Given the description of an element on the screen output the (x, y) to click on. 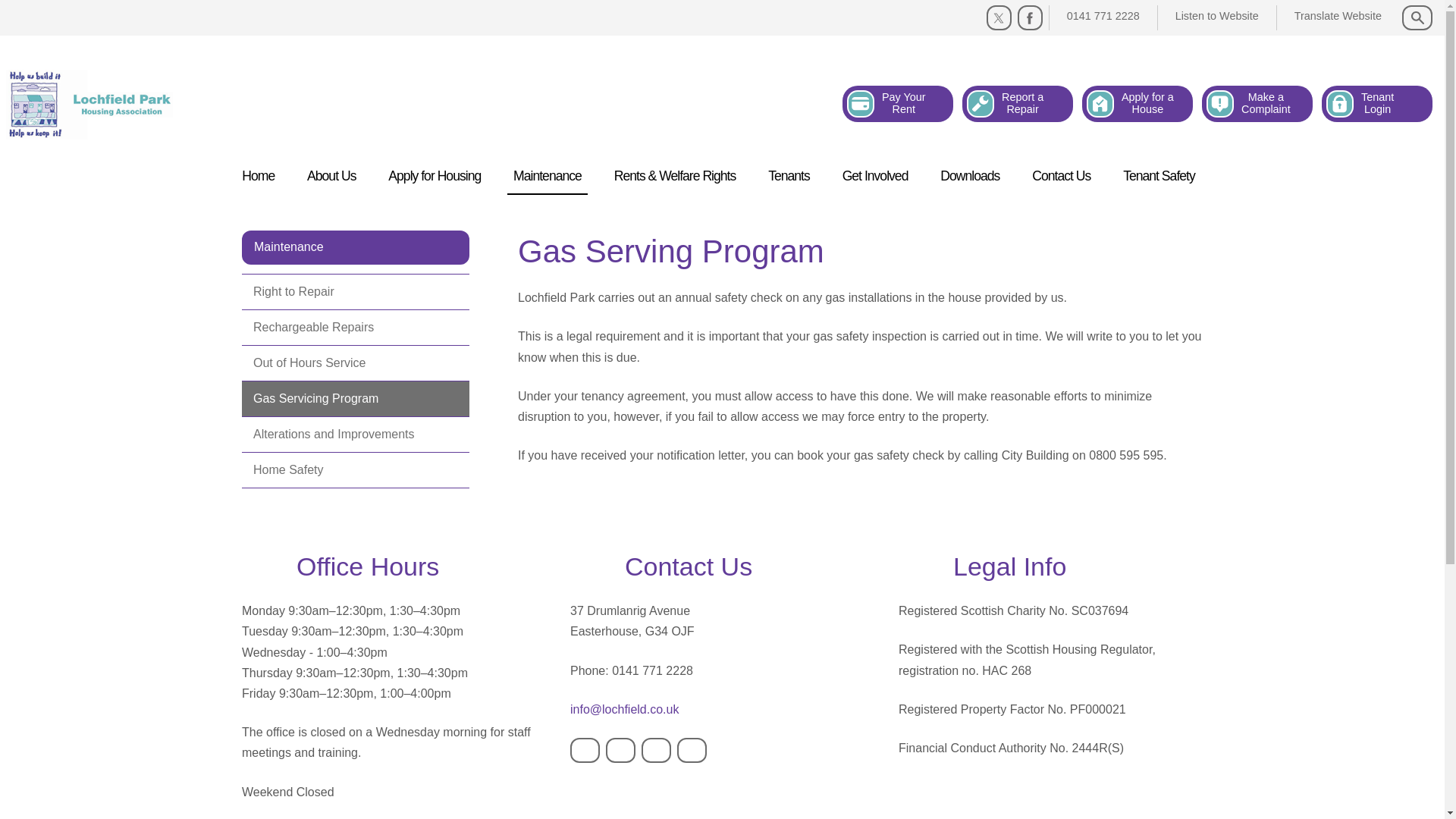
Maintenance (1136, 103)
0141 771 2228 (547, 175)
About Us (1103, 15)
Email (1377, 103)
Facebook (331, 175)
Apply for Housing (1017, 103)
X (619, 749)
